Given the description of an element on the screen output the (x, y) to click on. 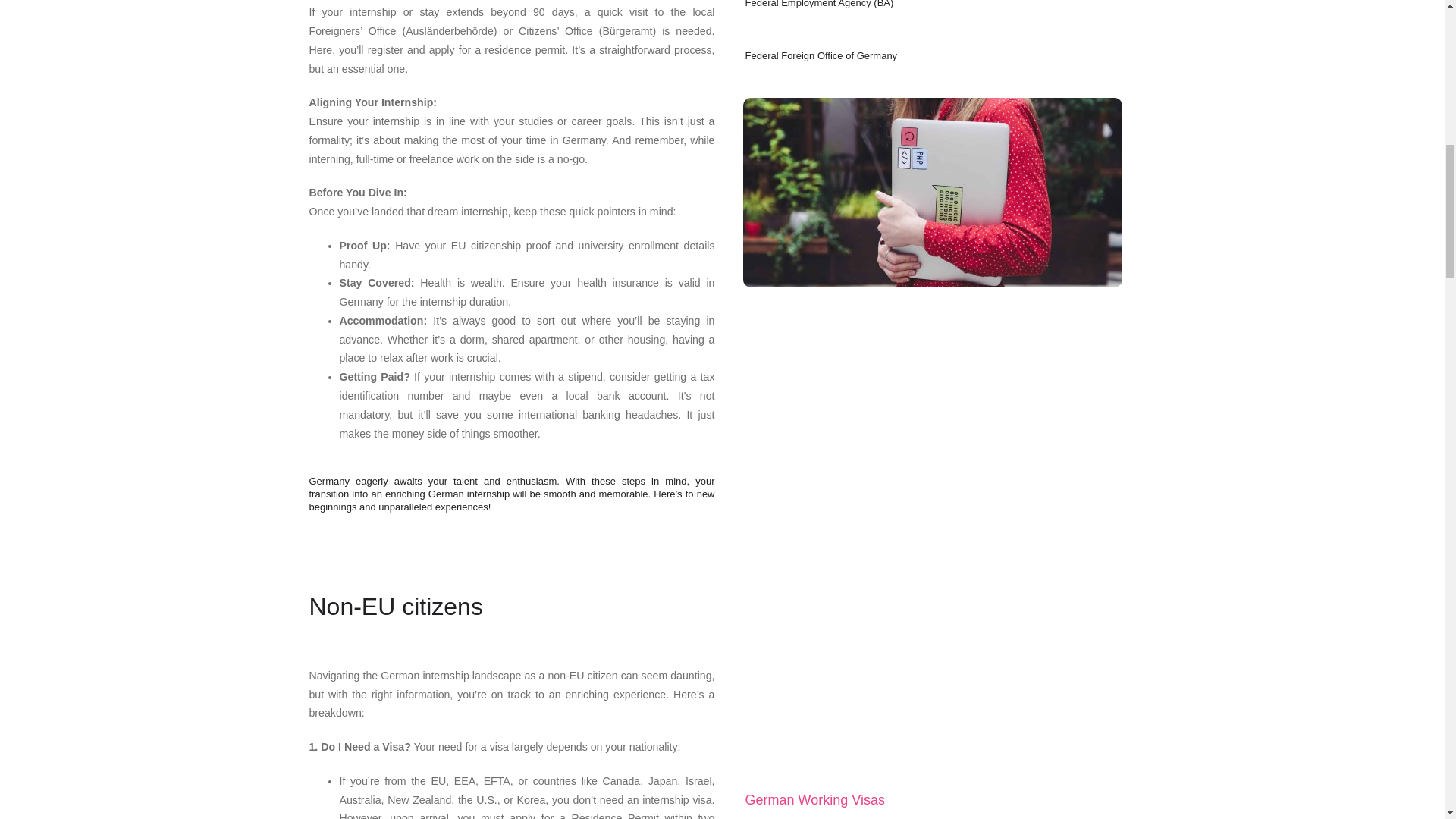
pexels-anna-shvets-12662921 (932, 192)
